Given the description of an element on the screen output the (x, y) to click on. 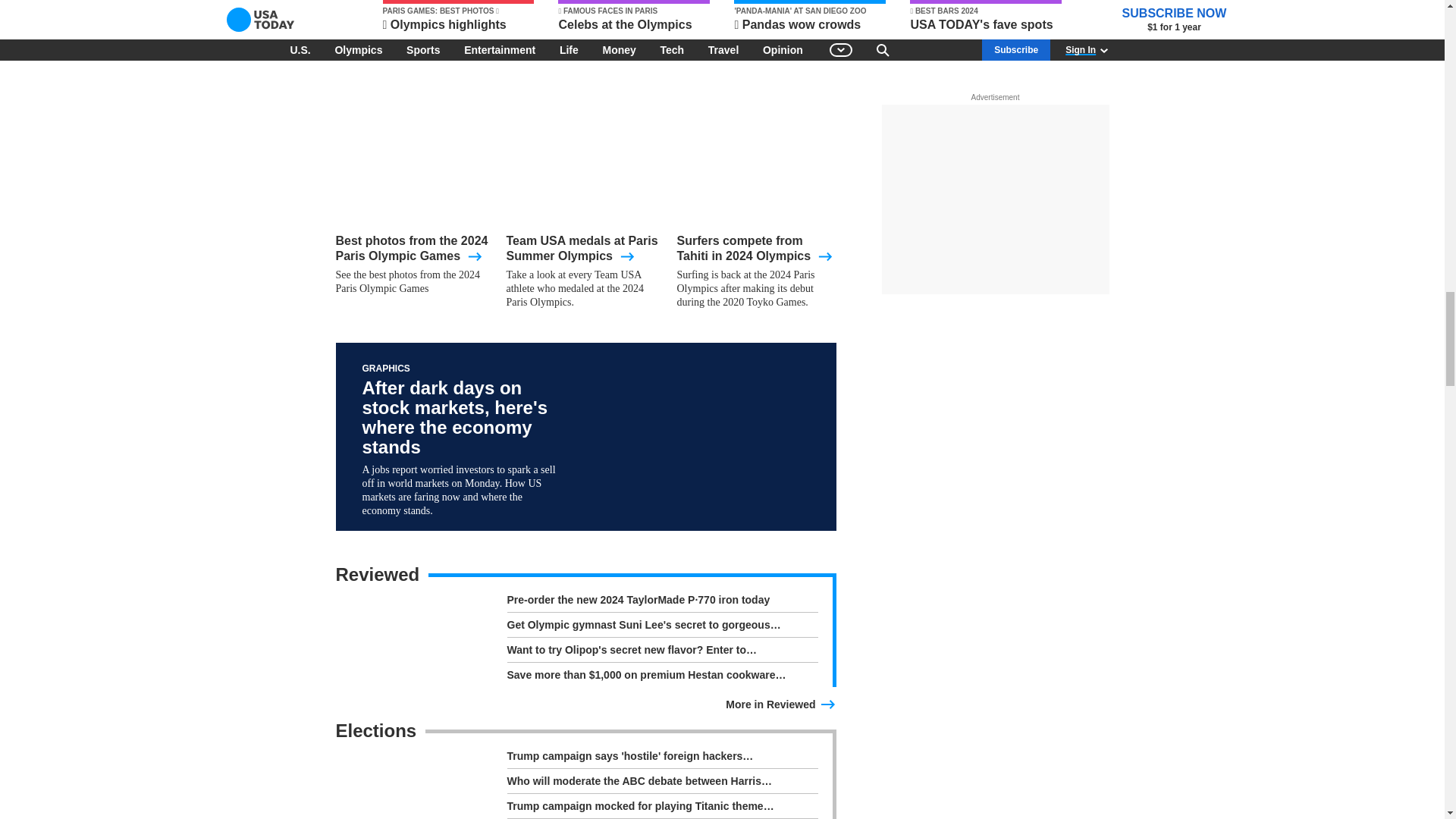
Who will moderate the ABC debate between Harris, Trump? (661, 783)
